Given the description of an element on the screen output the (x, y) to click on. 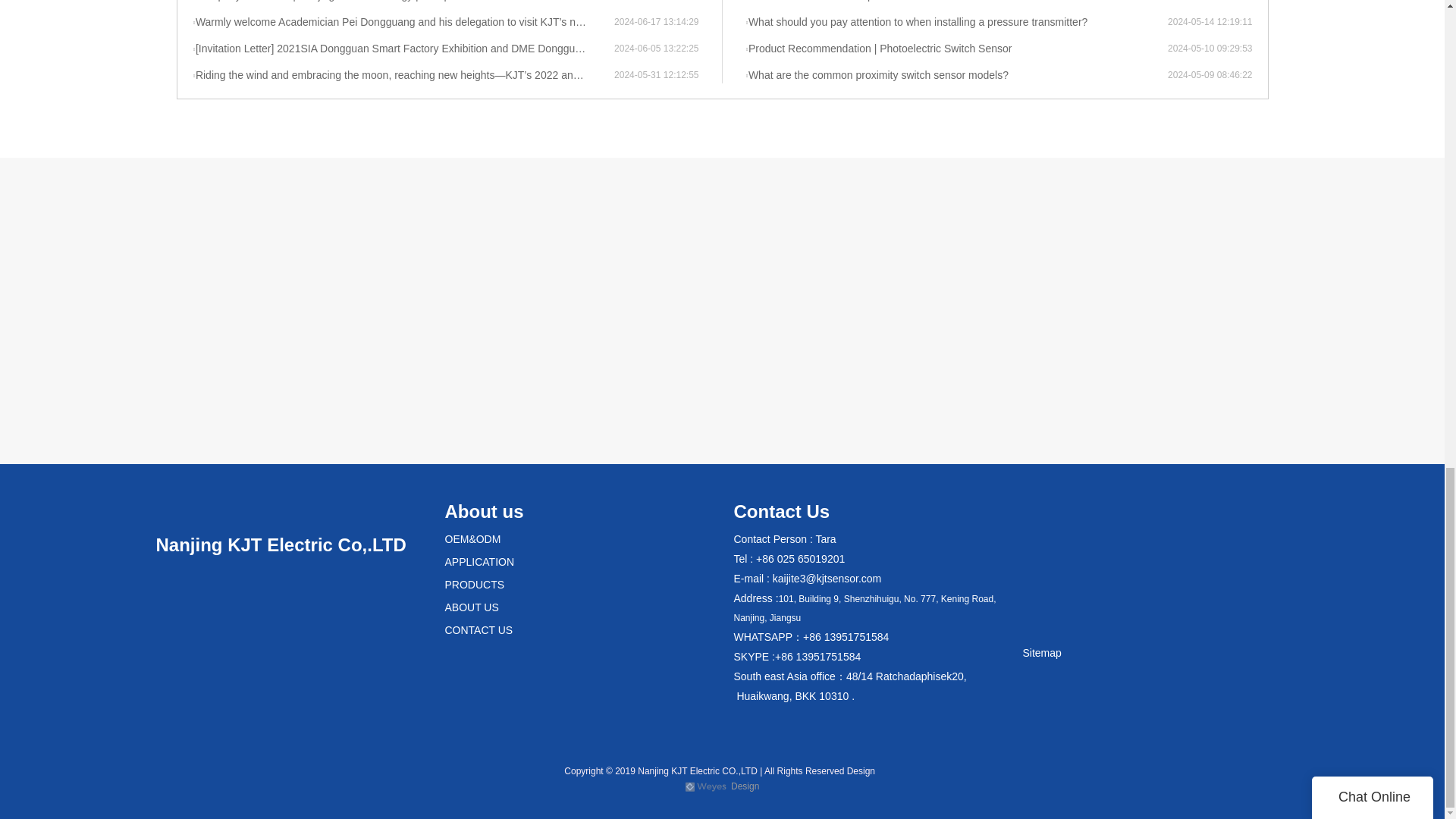
PRODUCTS (473, 584)
APPLICATION (478, 562)
ABOUT US (470, 607)
What are the common proximity switch sensor models? (955, 75)
CONTACT US (478, 630)
Sitemap (1041, 653)
